Given the description of an element on the screen output the (x, y) to click on. 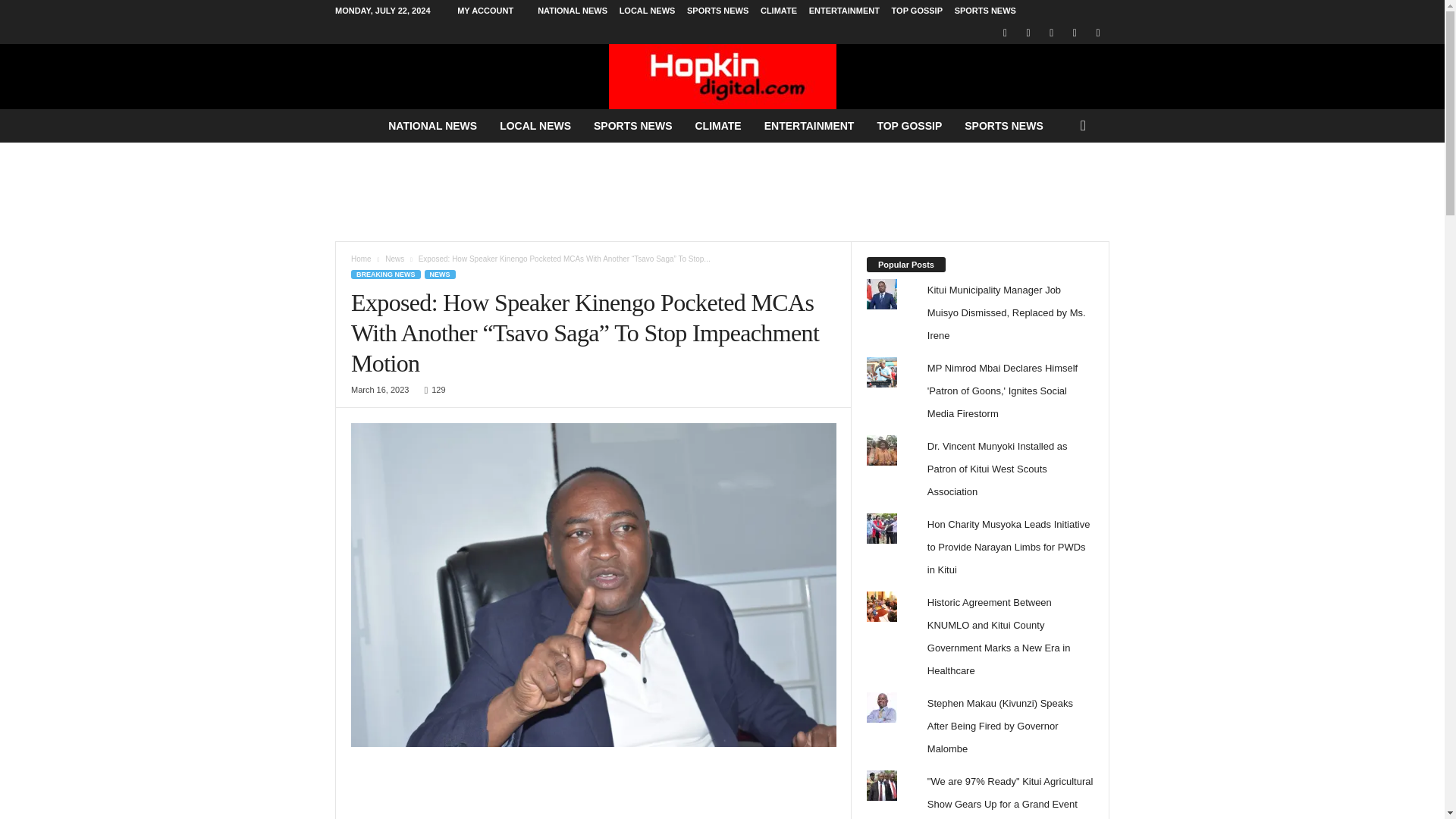
SPORTS NEWS (717, 10)
LOCAL NEWS (647, 10)
THE FUTURE IS DIGITAL (721, 76)
SPORTS NEWS (632, 125)
CLIMATE (778, 10)
NATIONAL NEWS (432, 125)
SPORTS NEWS (985, 10)
LOCAL NEWS (534, 125)
NATIONAL NEWS (572, 10)
ENTERTAINMENT (844, 10)
Advertisement (721, 192)
View all posts in News (394, 258)
TOP GOSSIP (916, 10)
